Given the description of an element on the screen output the (x, y) to click on. 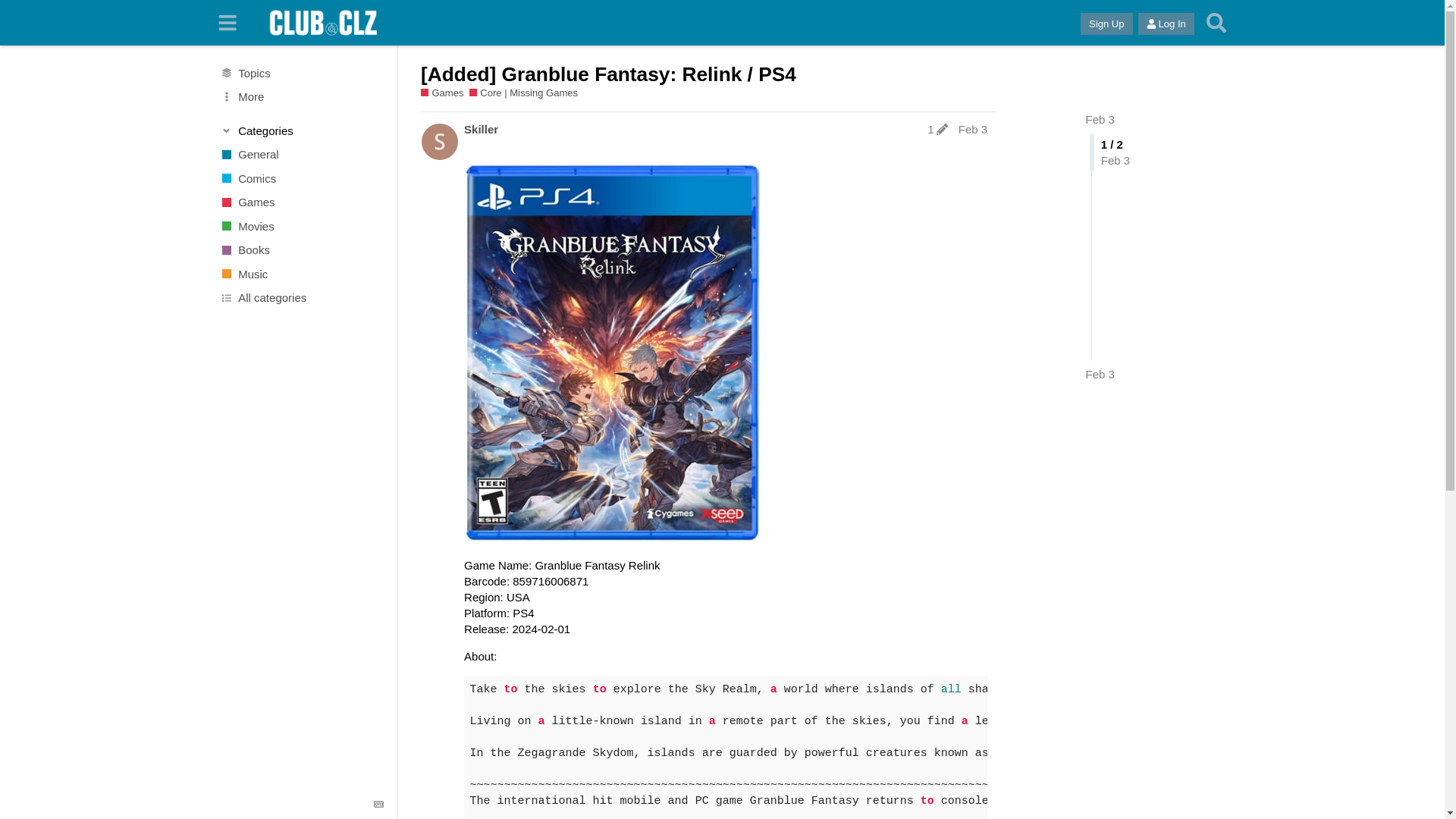
Feb 3 (1100, 119)
Feb 3 (1100, 374)
Log In (1165, 24)
1 (937, 128)
Books (301, 250)
General (301, 154)
All topics (301, 72)
Movies (301, 225)
Feb 3, 2024 5:38 pm (1100, 373)
Music (301, 274)
post last edited on Feb 3, 2024 5:39 pm (937, 128)
Sidebar (227, 22)
Topics (301, 72)
More (301, 96)
Keyboard Shortcuts (378, 805)
